Given the description of an element on the screen output the (x, y) to click on. 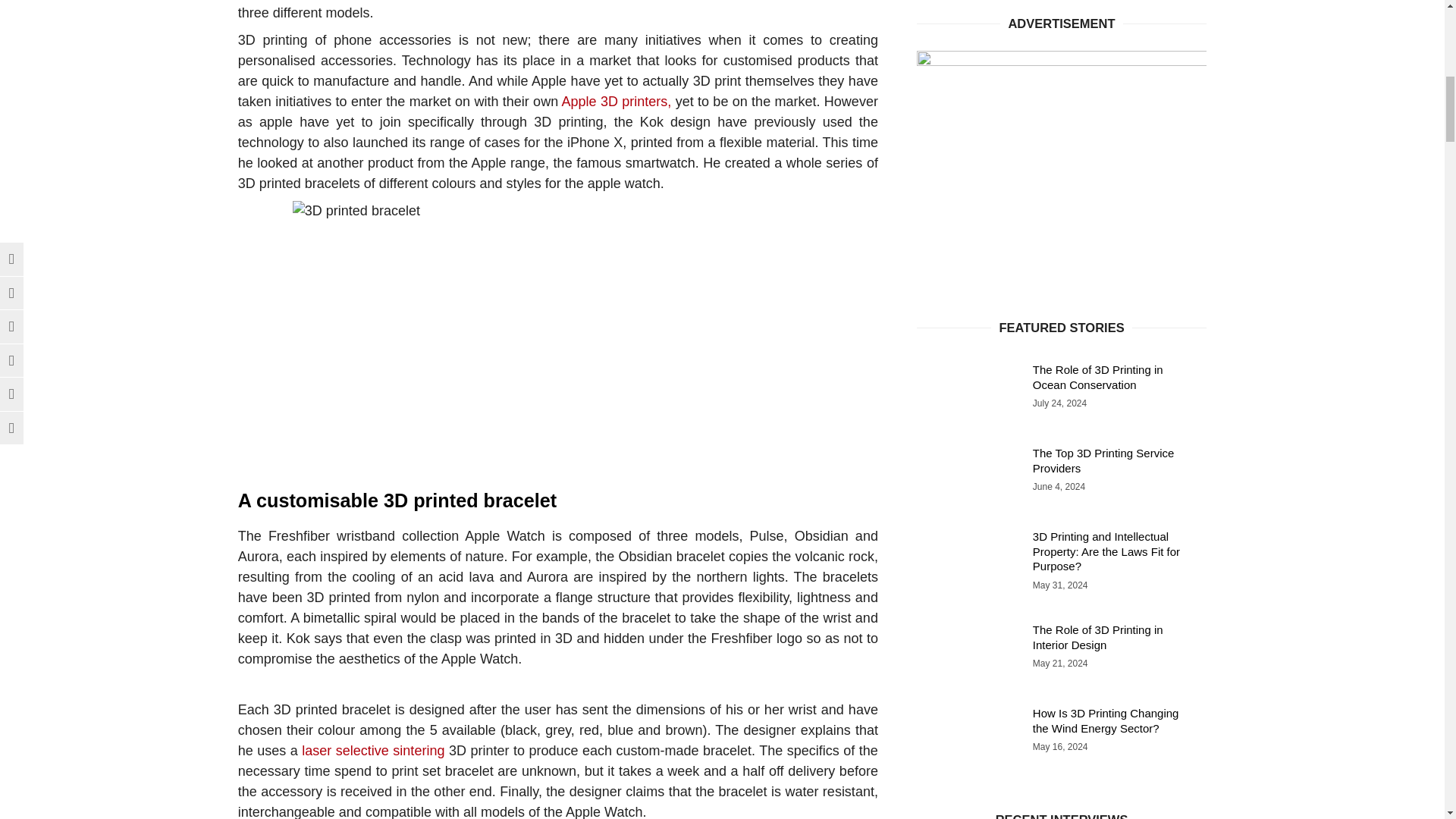
How Is 3D Printing Changing the Wind Energy Sector? (1062, 100)
The Role of 3D Printing in Interior Design (1062, 24)
